Given the description of an element on the screen output the (x, y) to click on. 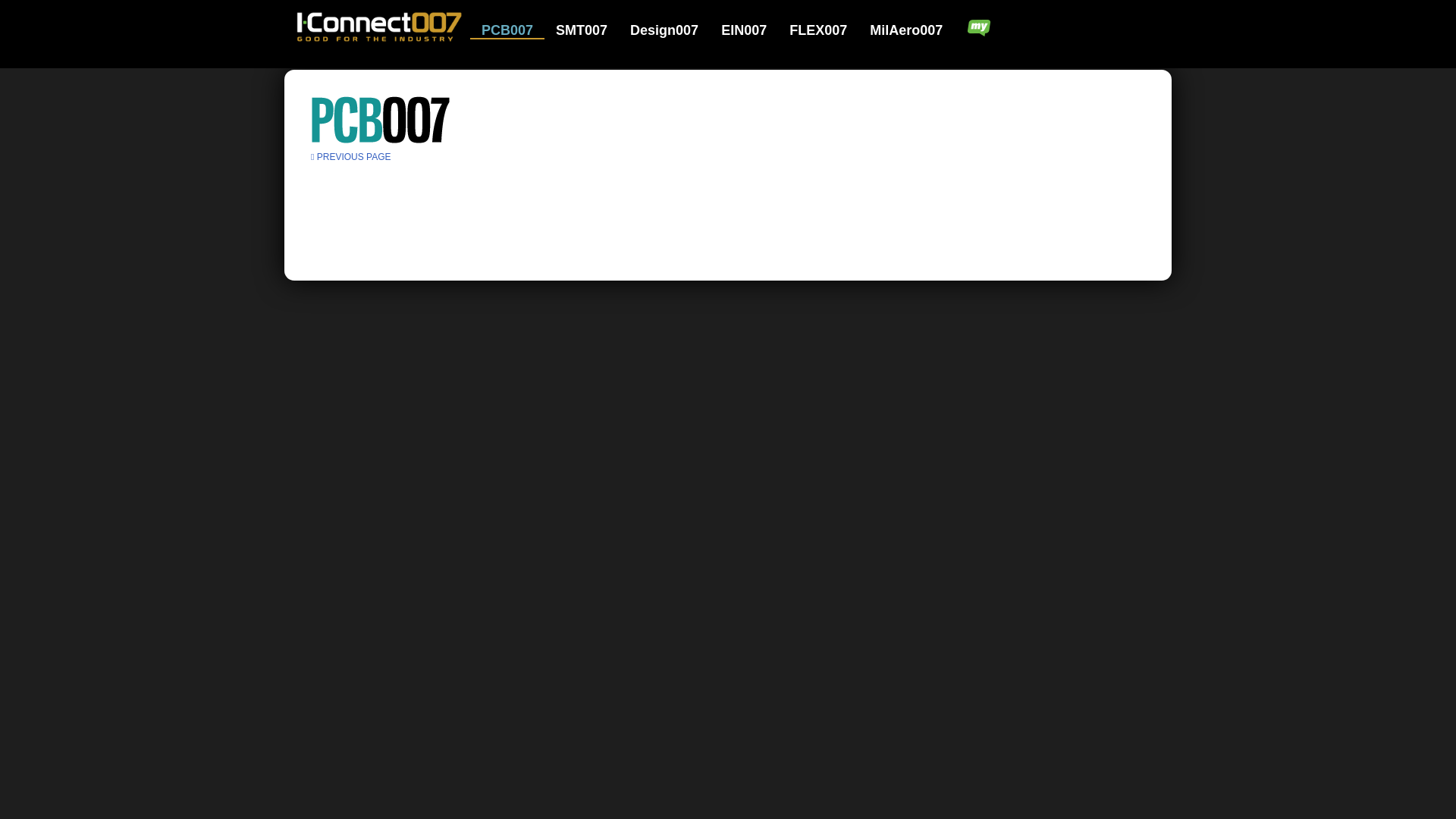
EIN007 (753, 30)
PCB007 (516, 30)
Design007 (673, 30)
FLEX007 (827, 30)
SMT007 (590, 30)
MilAero007 (907, 30)
PREVIOUS PAGE (351, 156)
